Given the description of an element on the screen output the (x, y) to click on. 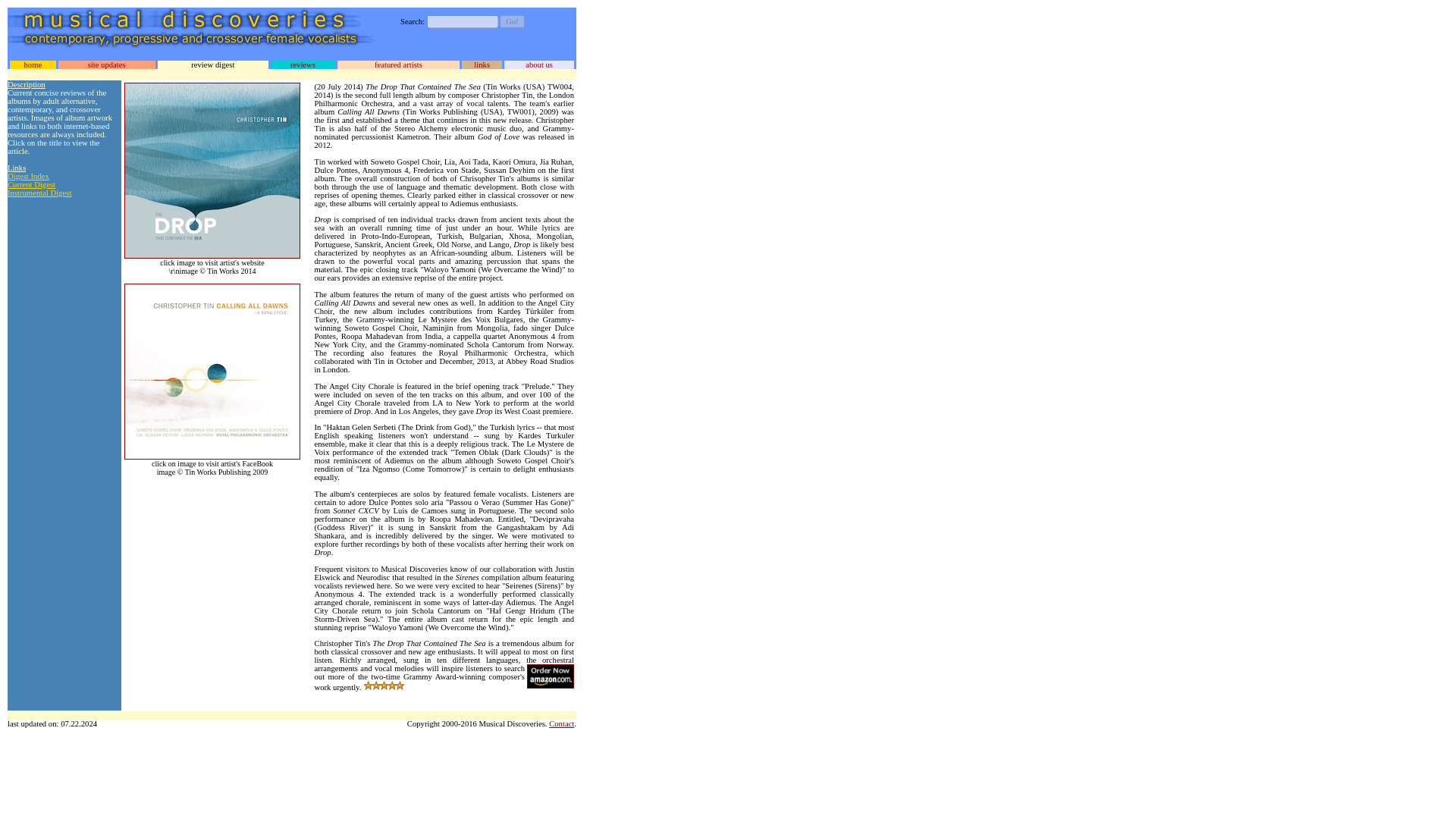
Instrumental Digest (39, 193)
links (481, 64)
site updates (106, 64)
Go! (511, 21)
Current Digest (31, 184)
about us (539, 64)
Digest Index (28, 175)
Go! (511, 21)
home (32, 64)
featured artists (398, 64)
Contact (560, 723)
reviews (302, 64)
